Given the description of an element on the screen output the (x, y) to click on. 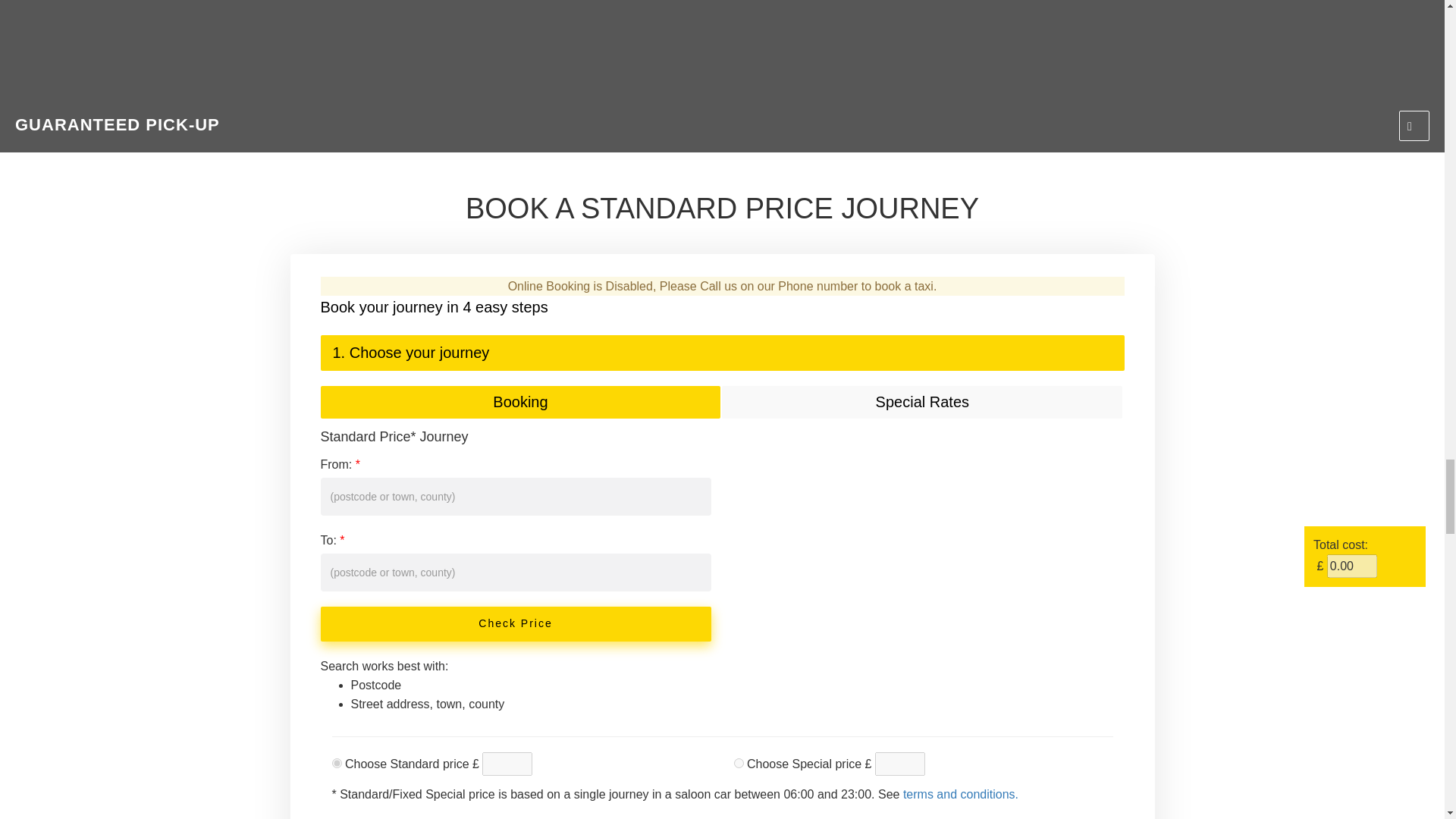
0.00 (1351, 566)
Map (928, 559)
standard (336, 763)
special (738, 763)
